Given the description of an element on the screen output the (x, y) to click on. 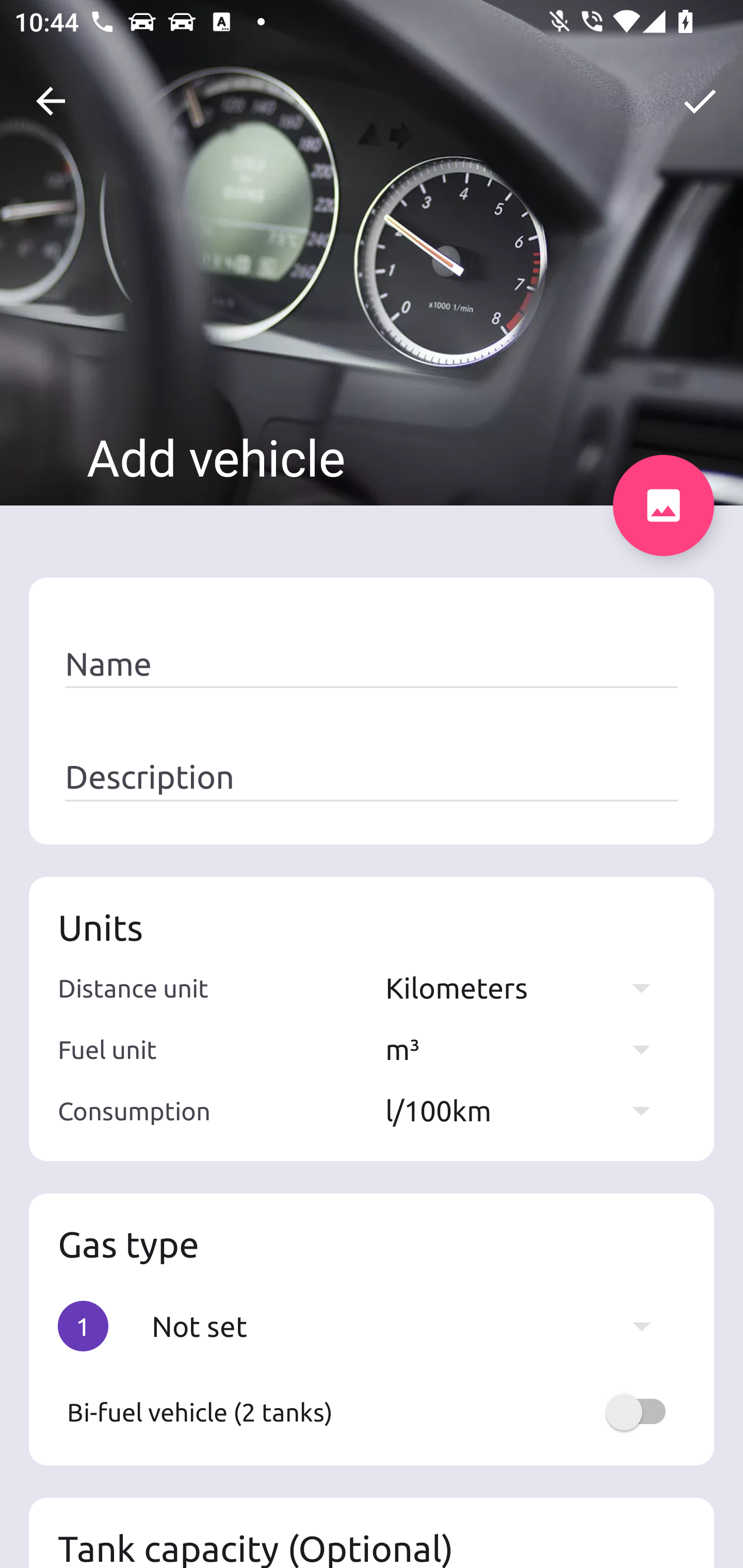
Navigate up (50, 101)
OK (699, 101)
Name (371, 664)
Description (371, 777)
Kilometers (527, 987)
m³ (527, 1048)
l/100km (527, 1110)
Not set (411, 1325)
Bi-fuel vehicle (2 tanks) (371, 1411)
